Given the description of an element on the screen output the (x, y) to click on. 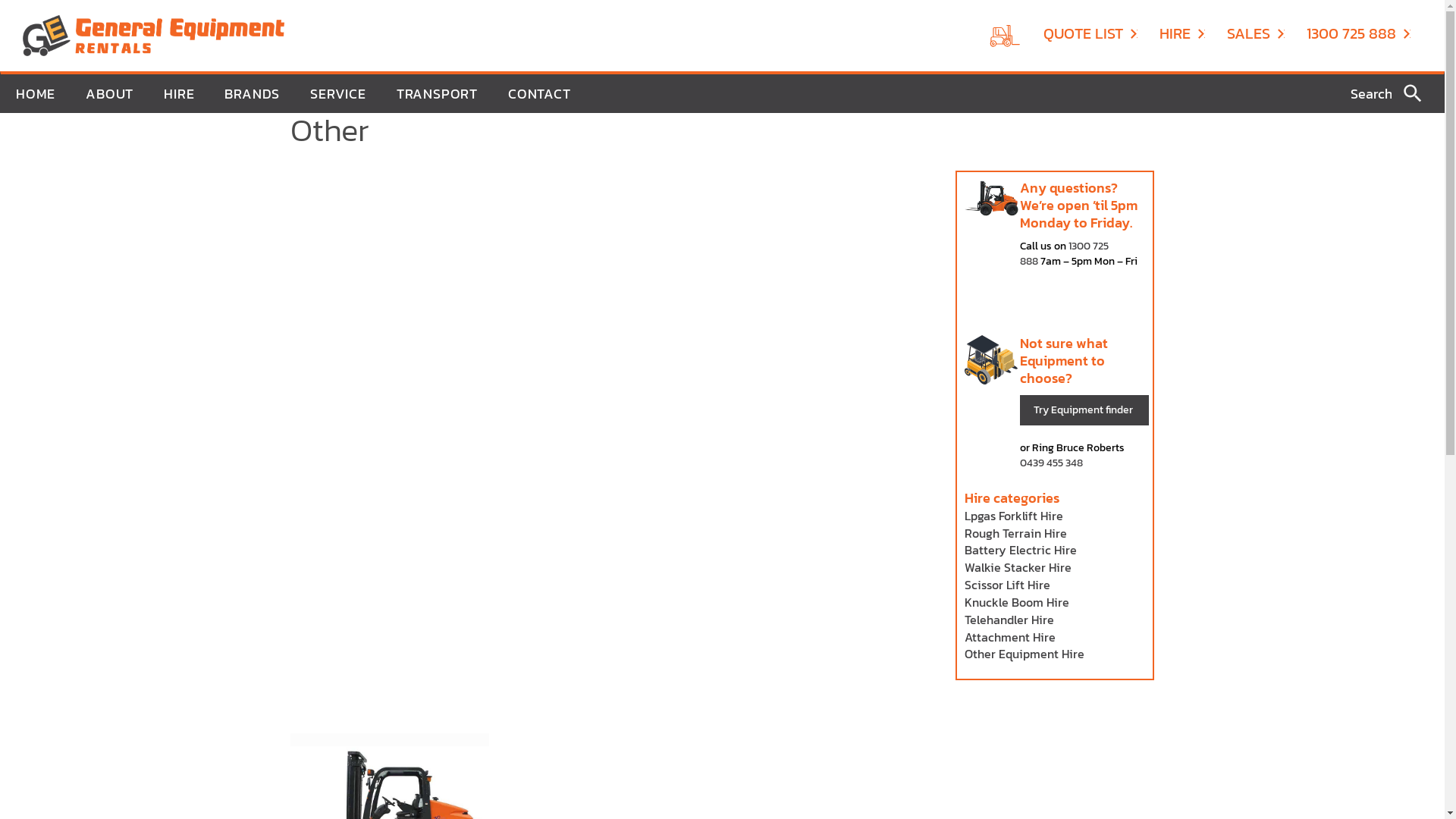
HOME Element type: text (35, 93)
QUOTE LIST Element type: text (1090, 32)
1300 725 888 Element type: text (1358, 32)
Lpgas Forklift Hire Element type: text (1013, 515)
Attachment Hire Element type: text (1009, 636)
Other Equipment Hire Element type: text (1024, 653)
SALES Element type: text (1255, 32)
ABOUT Element type: text (109, 93)
TRANSPORT Element type: text (436, 93)
Search Element type: text (1413, 93)
Rough Terrain Hire Element type: text (1015, 533)
Scissor Lift Hire Element type: text (1007, 584)
BRANDS Element type: text (251, 93)
Try Equipment finder  Element type: text (1083, 410)
Telehandler Hire Element type: text (1009, 619)
Battery Electric Hire Element type: text (1020, 549)
Knuckle Boom Hire Element type: text (1016, 602)
SERVICE Element type: text (337, 93)
HIRE Element type: text (178, 93)
Walkie Stacker Hire Element type: text (1017, 567)
HIRE Element type: text (1181, 32)
CONTACT Element type: text (539, 93)
1300 725 888 Element type: text (1063, 253)
0439 455 348 Element type: text (1050, 462)
Home Element type: hover (153, 34)
